Given the description of an element on the screen output the (x, y) to click on. 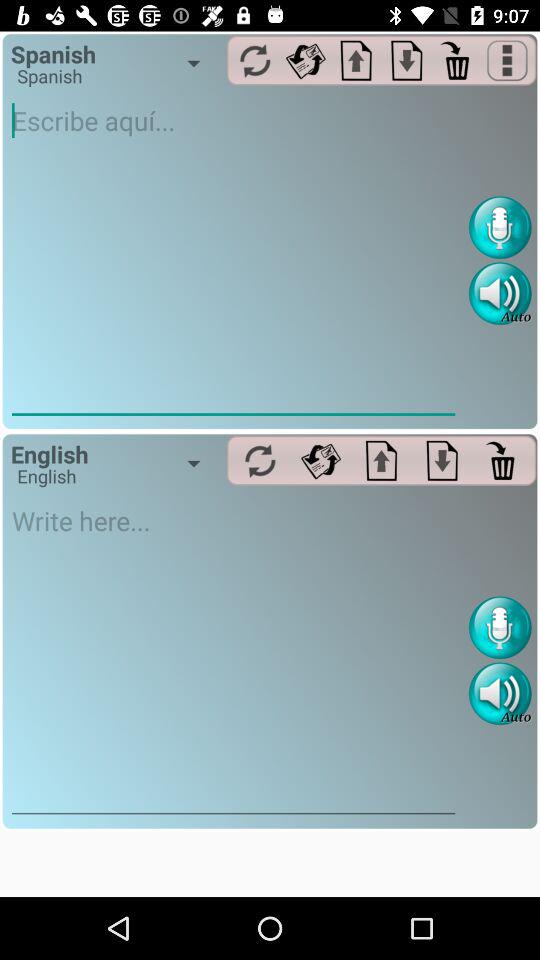
rotates page (305, 60)
